Given the description of an element on the screen output the (x, y) to click on. 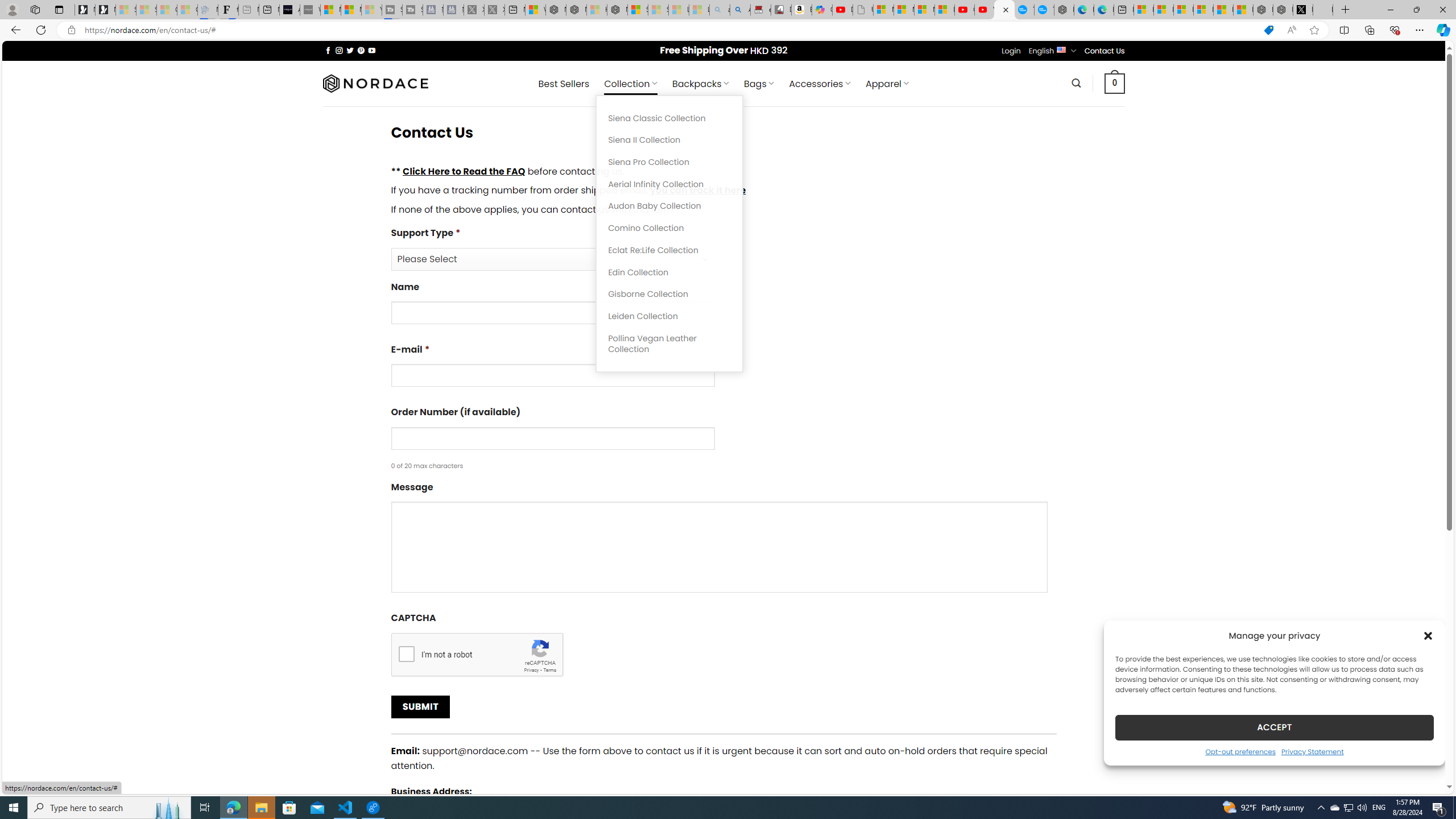
 Best Sellers (563, 83)
The most popular Google 'how to' searches (1043, 9)
Edin Collection (669, 272)
Terms (549, 669)
Untitled (1322, 9)
Leiden Collection (669, 316)
Privacy Statement (1312, 750)
Message (723, 540)
Aerial Infinity Collection (669, 183)
Nordace - Nordace Siena Is Not An Ordinary Backpack (616, 9)
